Given the description of an element on the screen output the (x, y) to click on. 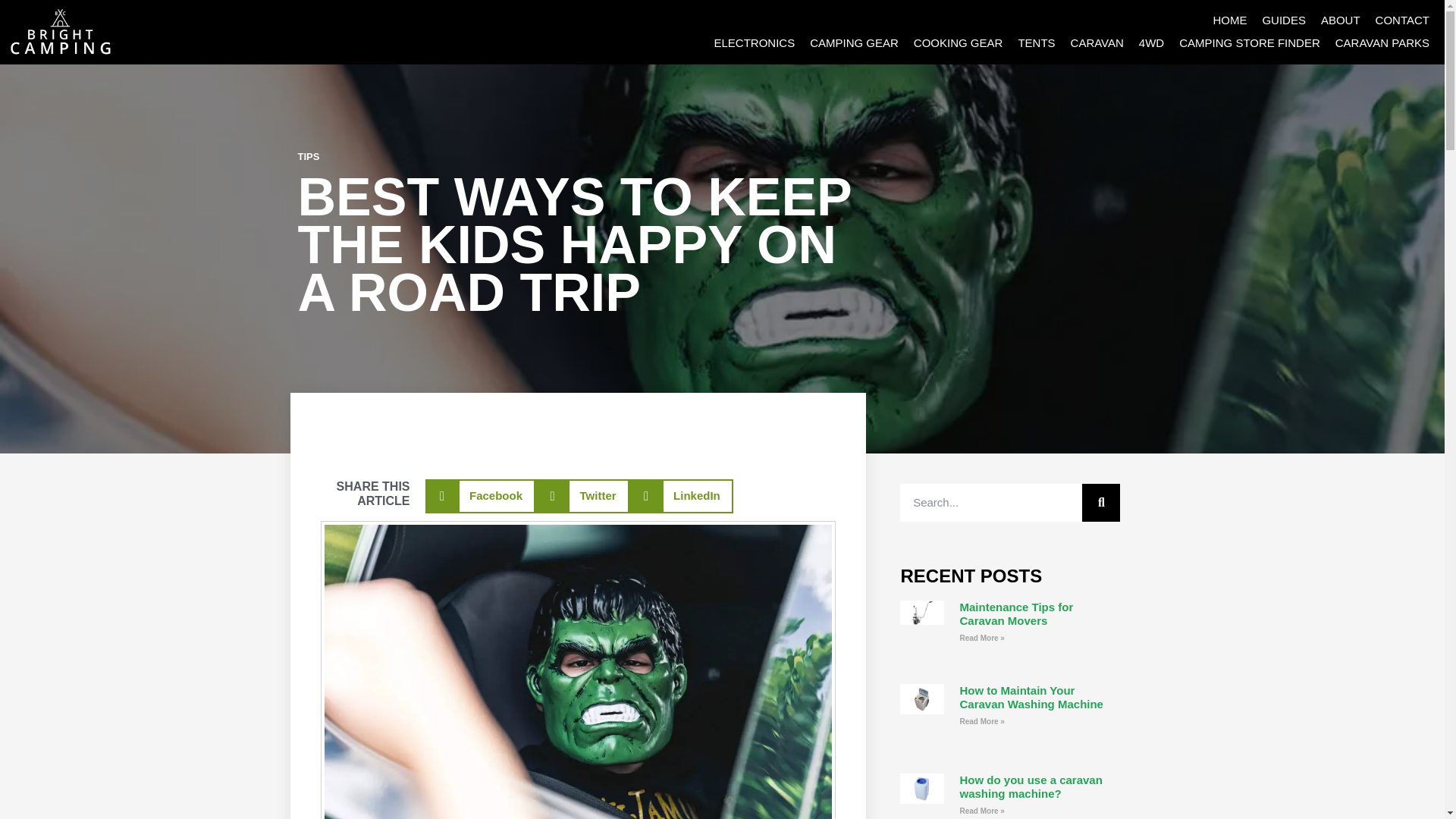
CONTACT (1402, 20)
CAMPING GEAR (853, 42)
ELECTRONICS (754, 42)
GUIDES (1283, 20)
ABOUT (1340, 20)
HOME (1229, 20)
COOKING GEAR (957, 42)
